Given the description of an element on the screen output the (x, y) to click on. 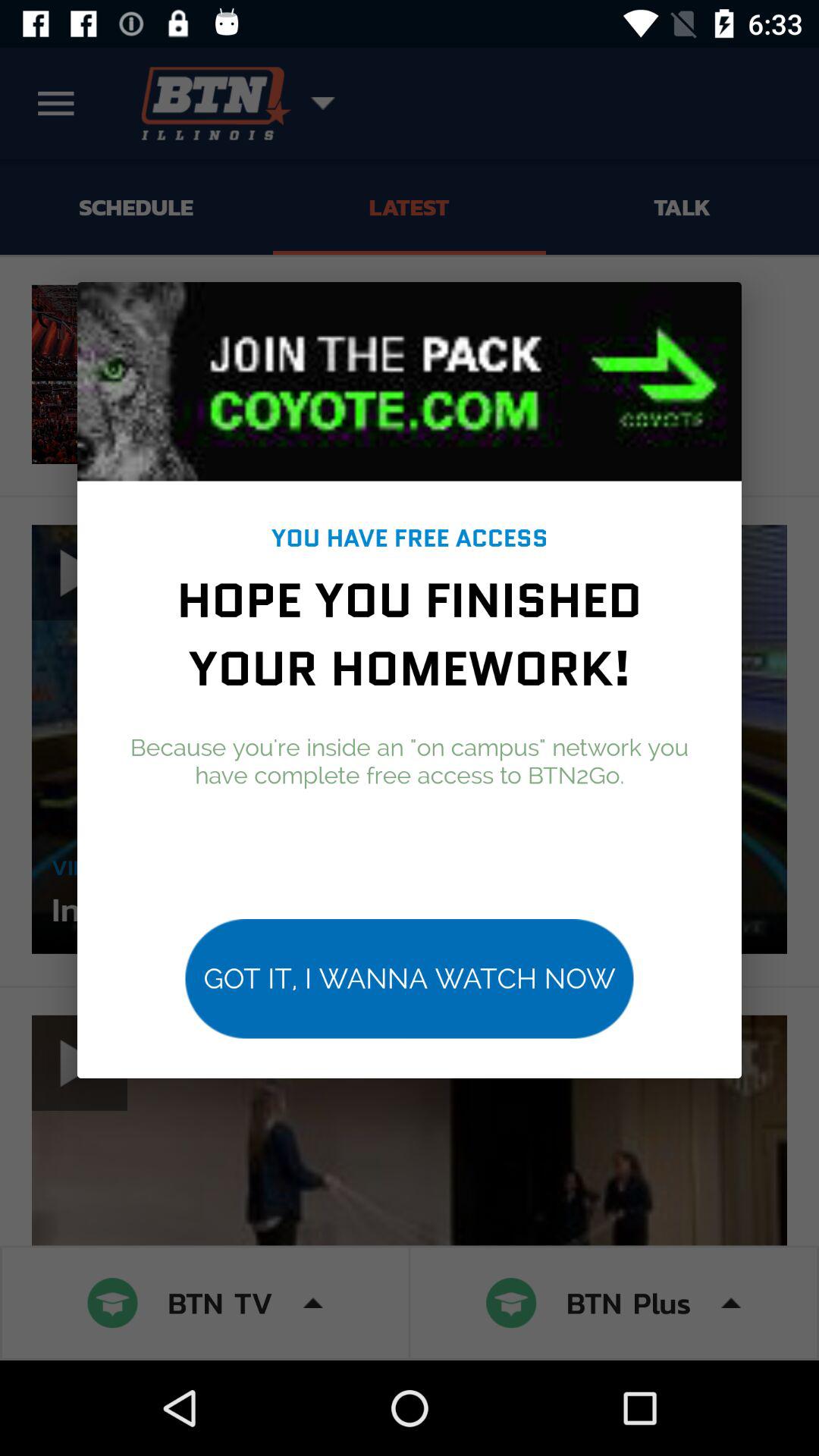
turn off icon below the because you re (409, 978)
